Given the description of an element on the screen output the (x, y) to click on. 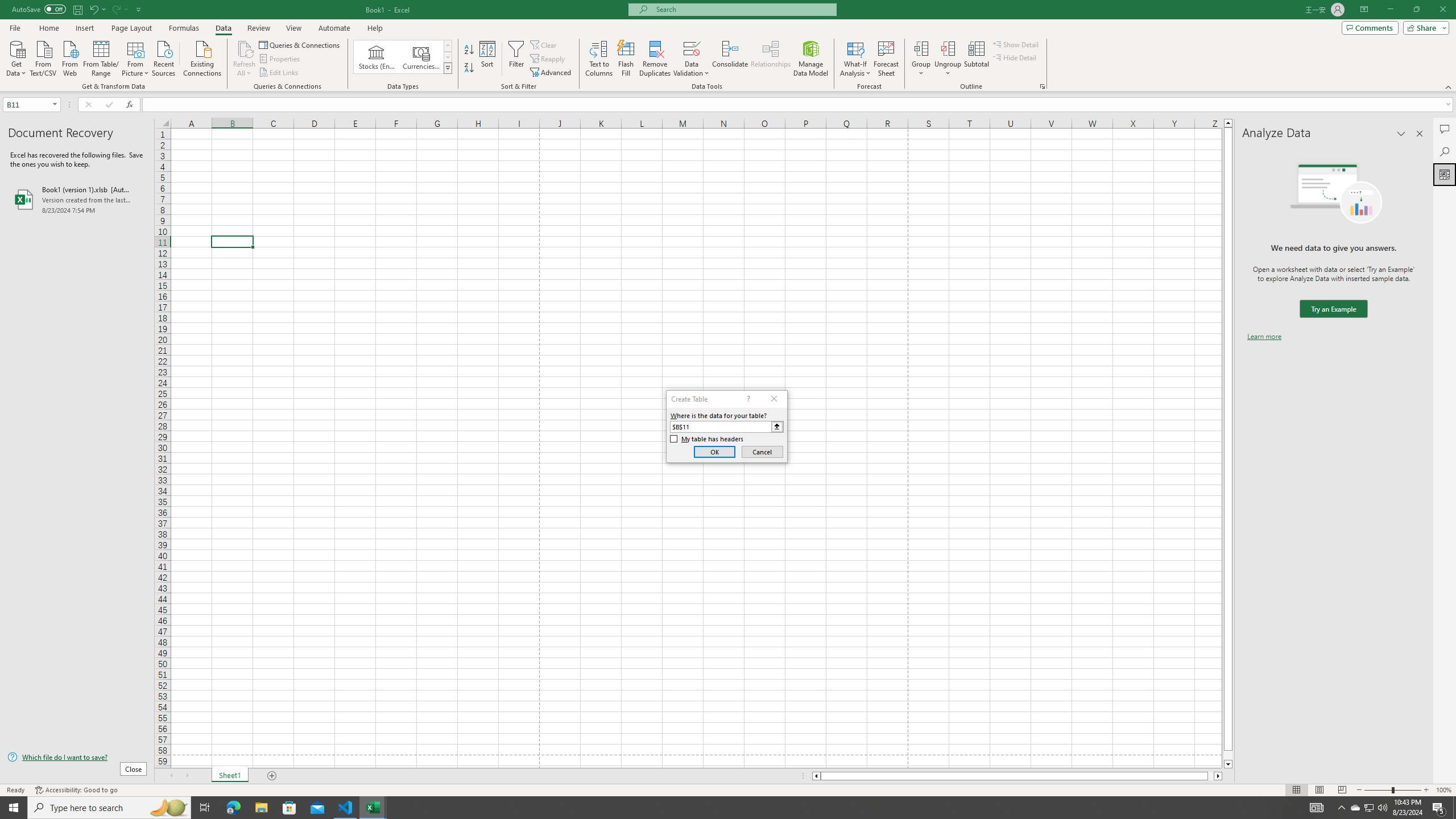
Properties (280, 58)
Flash Fill (625, 58)
Queries & Connections (300, 44)
Forecast Sheet (885, 58)
Data Types (448, 67)
Reapply (548, 58)
